Given the description of an element on the screen output the (x, y) to click on. 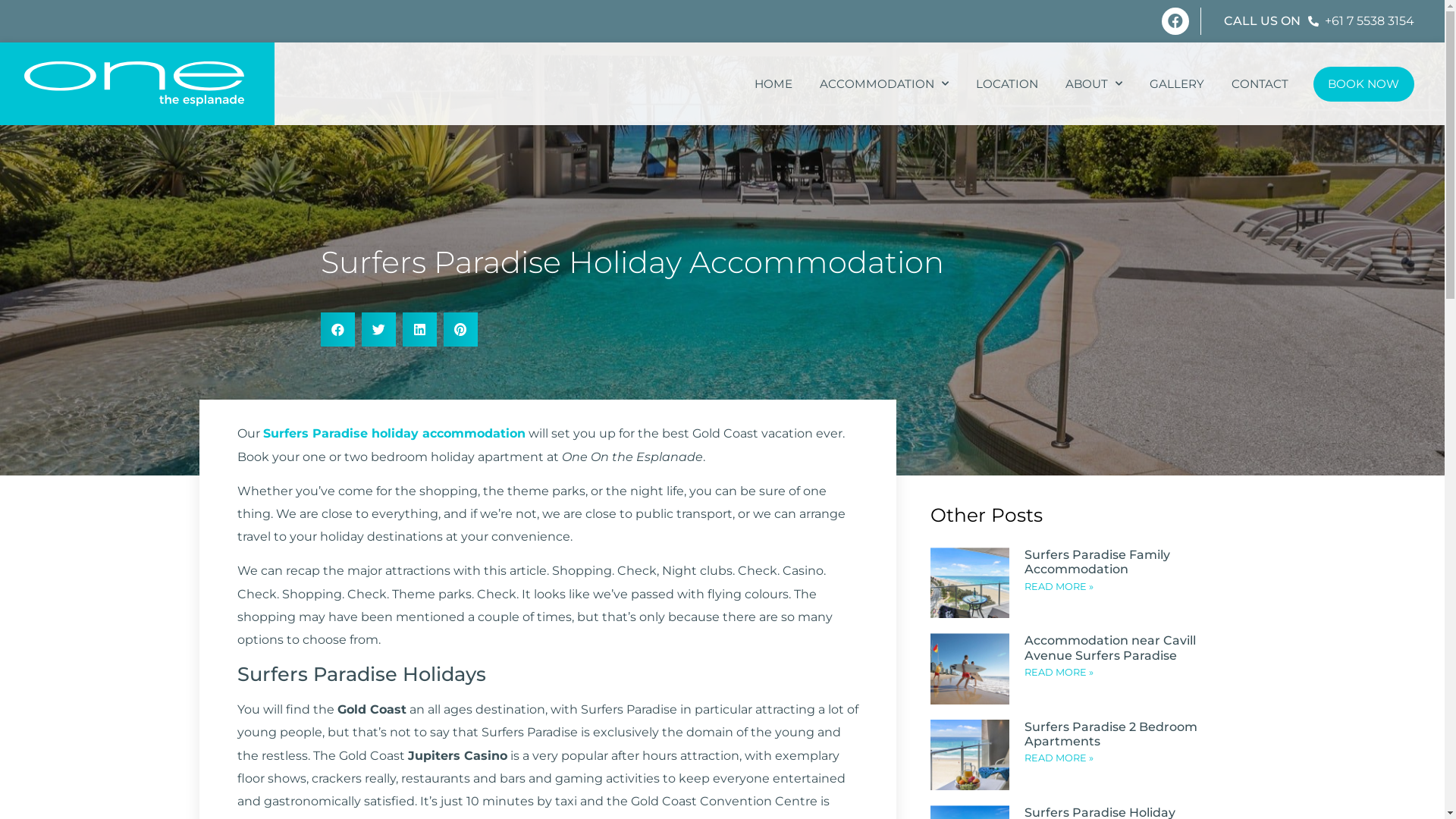
Surfers Paradise 2 Bedroom Apartments Element type: text (1110, 733)
Surfers Paradise holiday accommodation Element type: text (393, 433)
LOCATION Element type: text (1006, 84)
ACCOMMODATION Element type: text (883, 84)
Surfers Paradise Family Accommodation Element type: text (1097, 561)
+61 7 5538 3154 Element type: text (1360, 21)
GALLERY Element type: text (1176, 84)
HOME Element type: text (772, 84)
BOOK NOW Element type: text (1364, 83)
CONTACT Element type: text (1259, 84)
Accommodation near Cavill Avenue Surfers Paradise Element type: text (1109, 647)
ABOUT Element type: text (1093, 84)
